Given the description of an element on the screen output the (x, y) to click on. 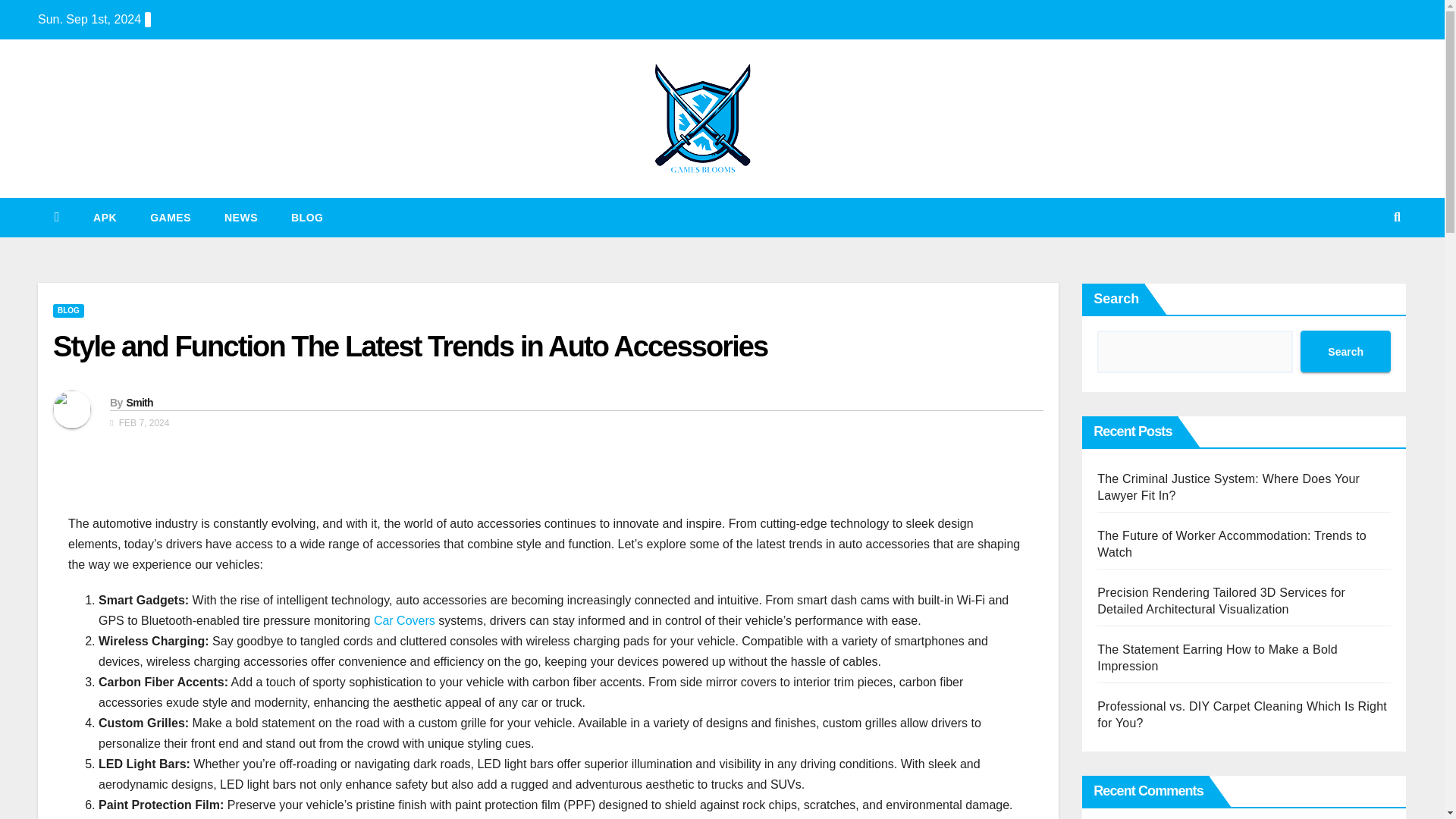
Smith (138, 402)
GAMES (170, 217)
BLOG (307, 217)
APK (105, 217)
Style and Function The Latest Trends in Auto Accessories (409, 346)
Car Covers (404, 620)
Apk (105, 217)
NEWS (241, 217)
Blog (307, 217)
